Given the description of an element on the screen output the (x, y) to click on. 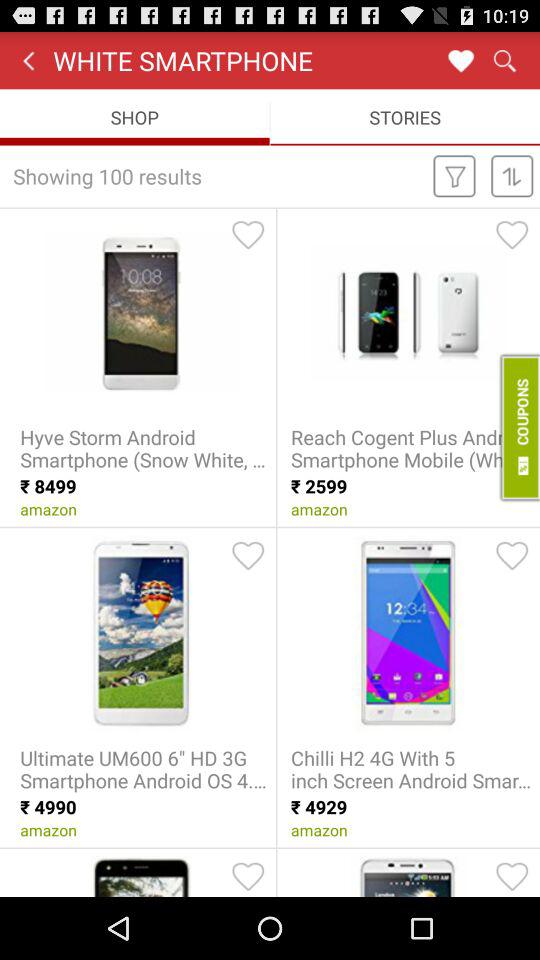
go back to the previous page (28, 60)
